Given the description of an element on the screen output the (x, y) to click on. 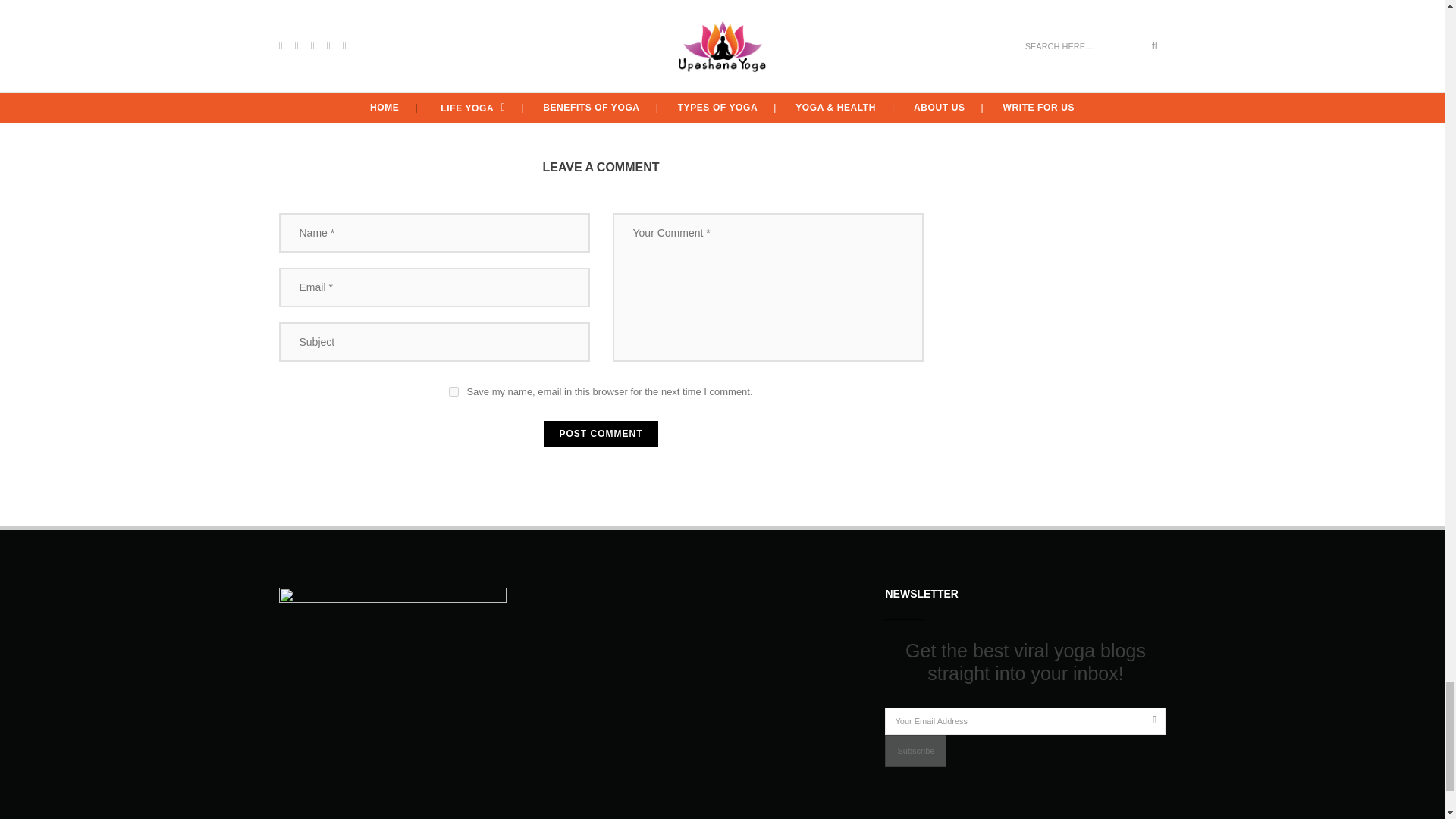
Post Comment (601, 433)
Subscribe (915, 750)
yes (453, 391)
